Given the description of an element on the screen output the (x, y) to click on. 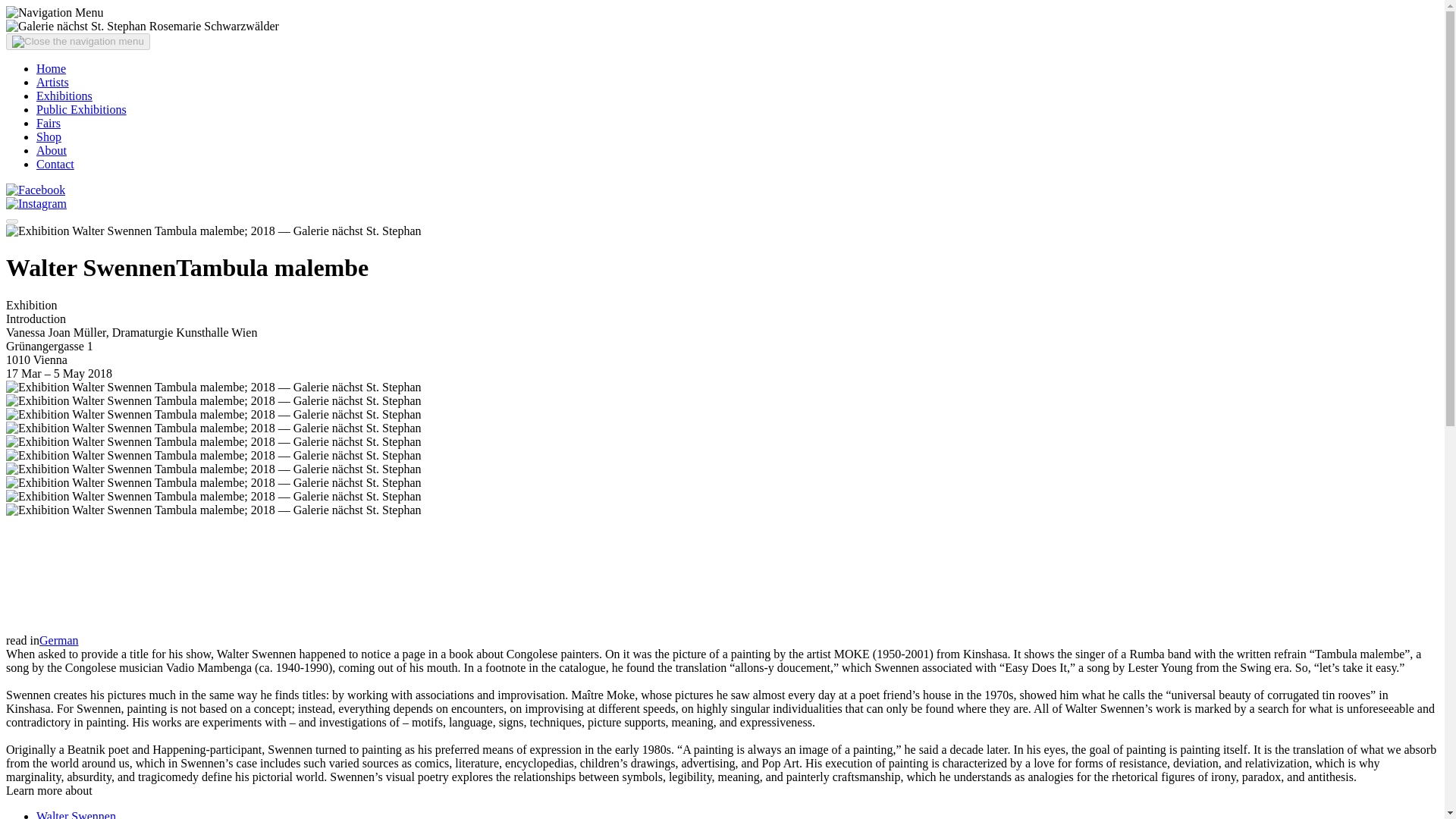
German (58, 640)
Close navigation menu (11, 221)
Walter Swennen (76, 814)
Close navigation menu (77, 41)
Home (50, 68)
Fairs (48, 123)
Exhibitions (64, 95)
Public Exhibitions (81, 109)
Shop (48, 136)
Artists (52, 82)
